Given the description of an element on the screen output the (x, y) to click on. 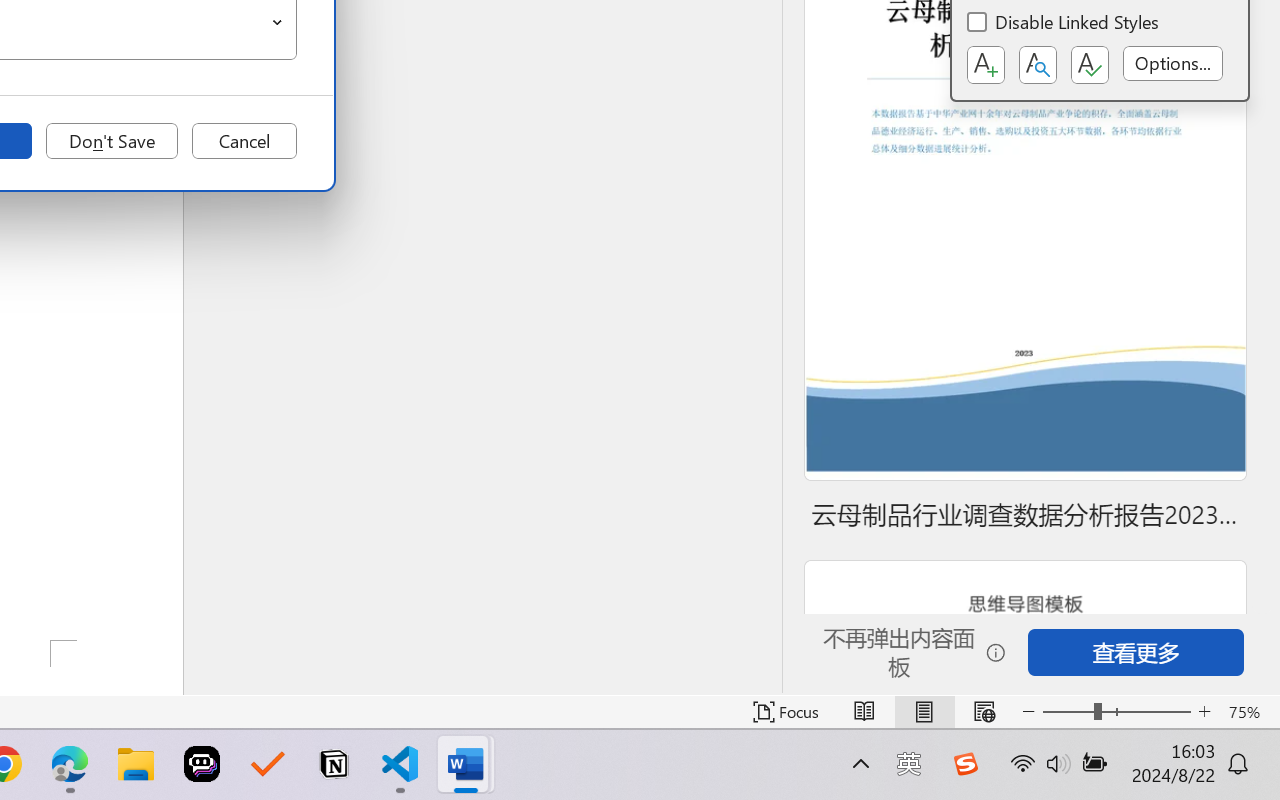
Disable Linked Styles (1064, 24)
Options... (1172, 63)
Cancel (244, 141)
Notion (333, 764)
Focus  (786, 712)
Zoom In (1204, 712)
